Given the description of an element on the screen output the (x, y) to click on. 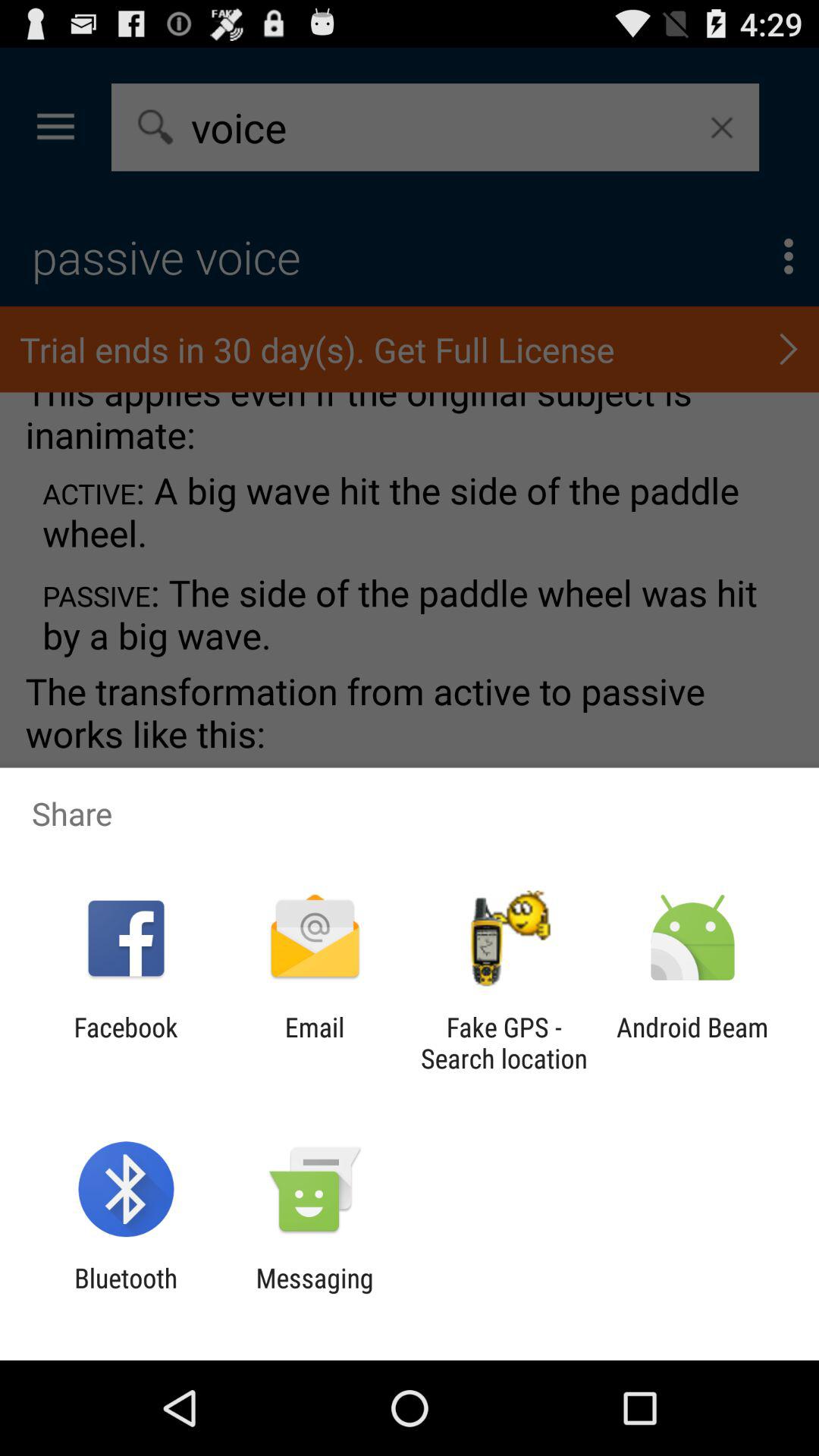
turn on the item to the left of the email app (125, 1042)
